Given the description of an element on the screen output the (x, y) to click on. 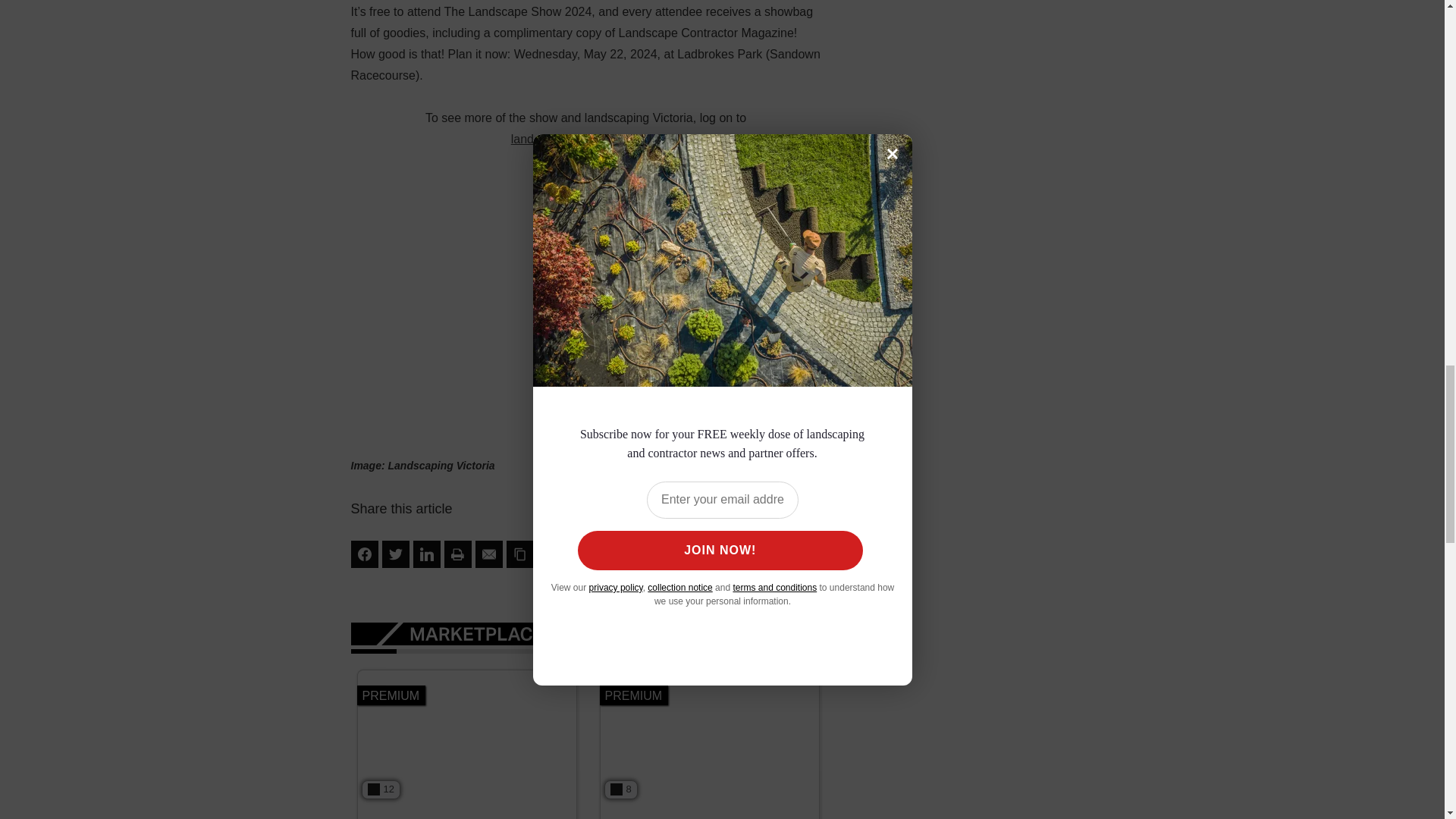
Share on LinkedIn (425, 554)
Share on Facebook (363, 554)
Share on Copy Link (520, 554)
Share on Print (457, 554)
Share on Email (488, 554)
Share on Twitter (395, 554)
